Given the description of an element on the screen output the (x, y) to click on. 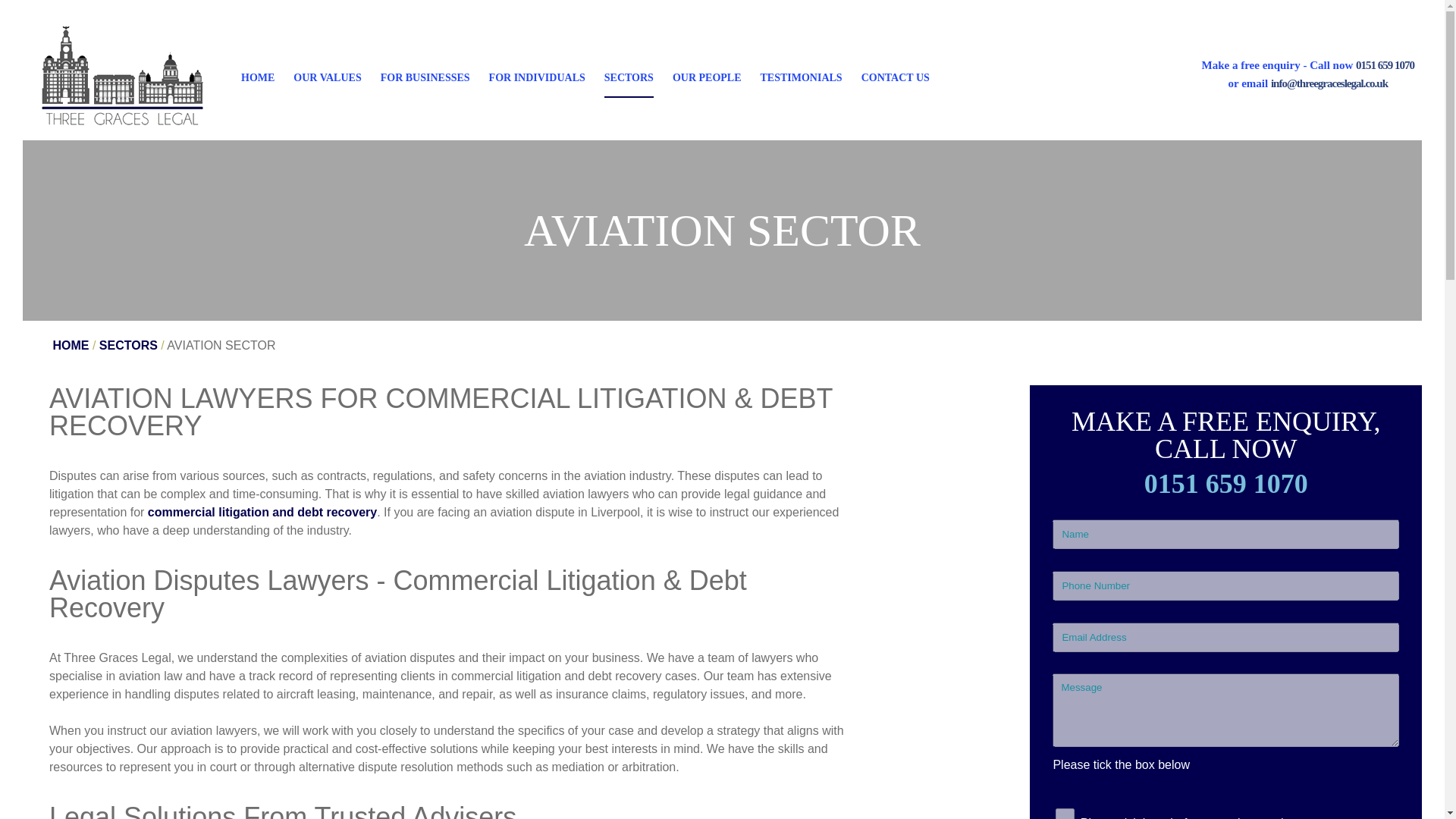
FOR BUSINESSES (425, 77)
FOR INDIVIDUALS (537, 77)
 Please tick here before pressing send (1064, 813)
HOME (258, 77)
OUR VALUES (327, 77)
SECTORS (628, 77)
